Given the description of an element on the screen output the (x, y) to click on. 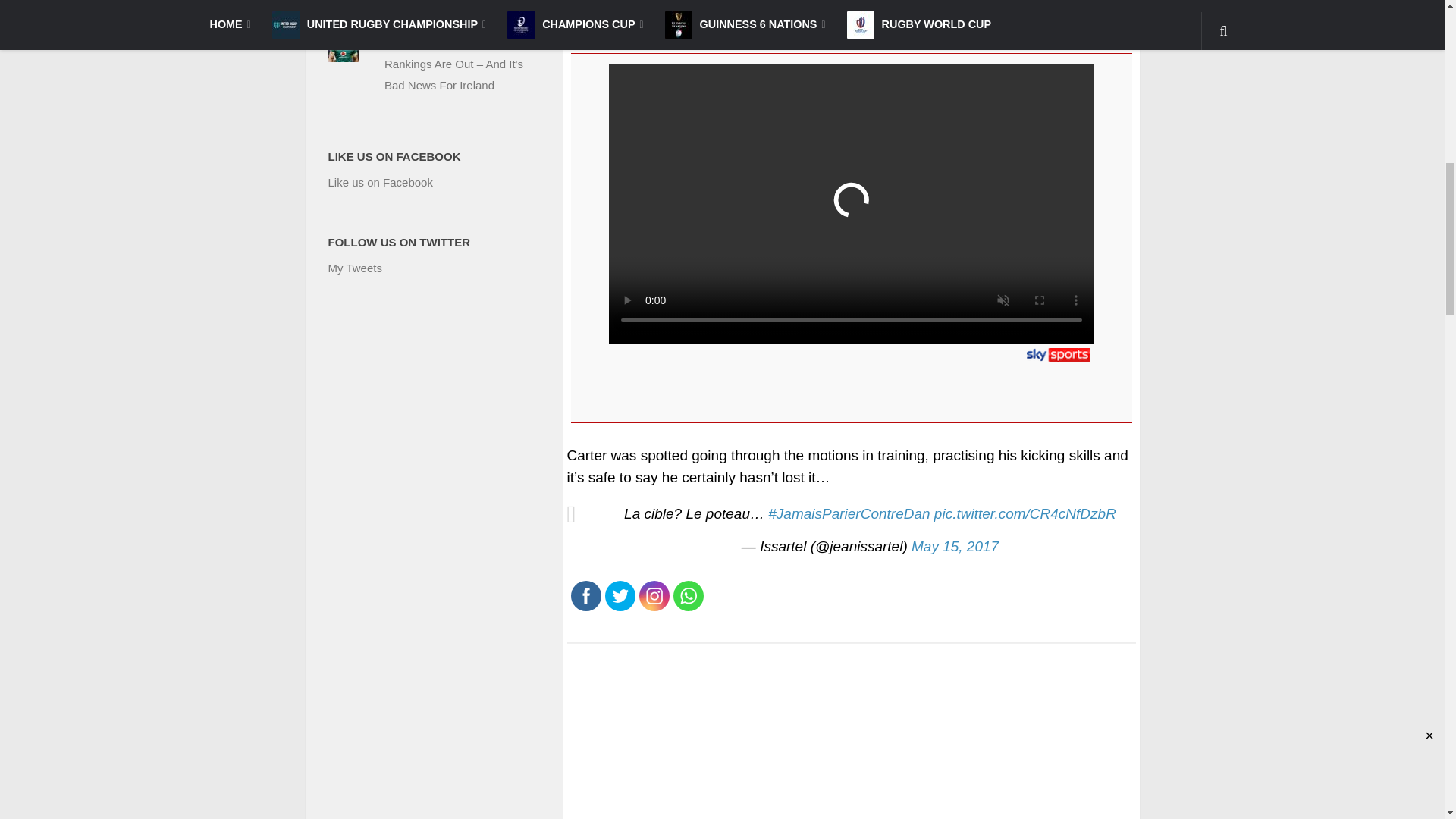
Facebook (586, 596)
Twitter (619, 596)
Instagram (654, 596)
